Given the description of an element on the screen output the (x, y) to click on. 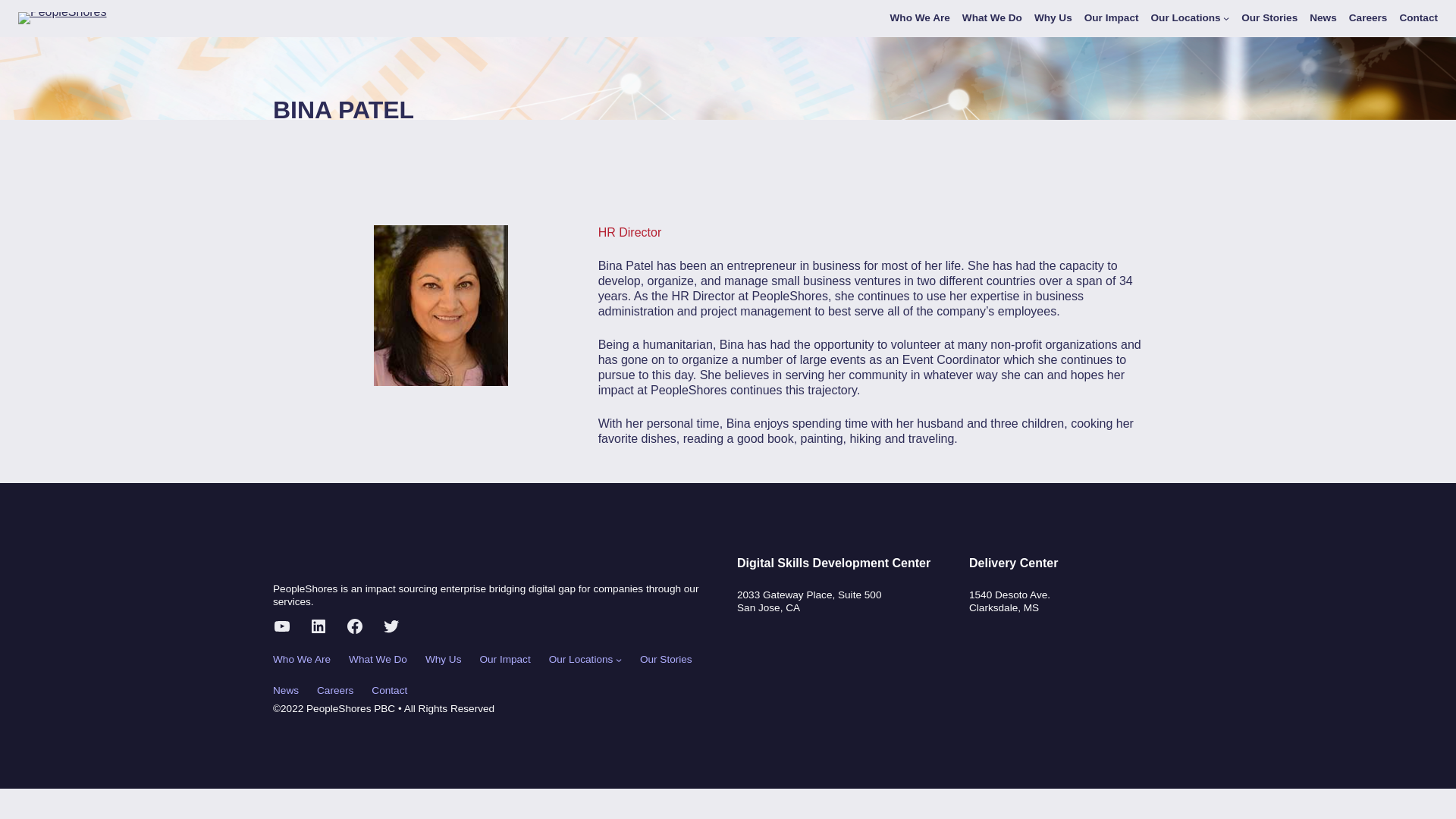
Who We Are (919, 18)
YouTube (282, 626)
What We Do (378, 659)
Facebook (355, 626)
Our Stories (1269, 18)
Why Us (1052, 18)
Our Stories (666, 659)
News (1322, 18)
News (285, 690)
Twitter (390, 626)
